Given the description of an element on the screen output the (x, y) to click on. 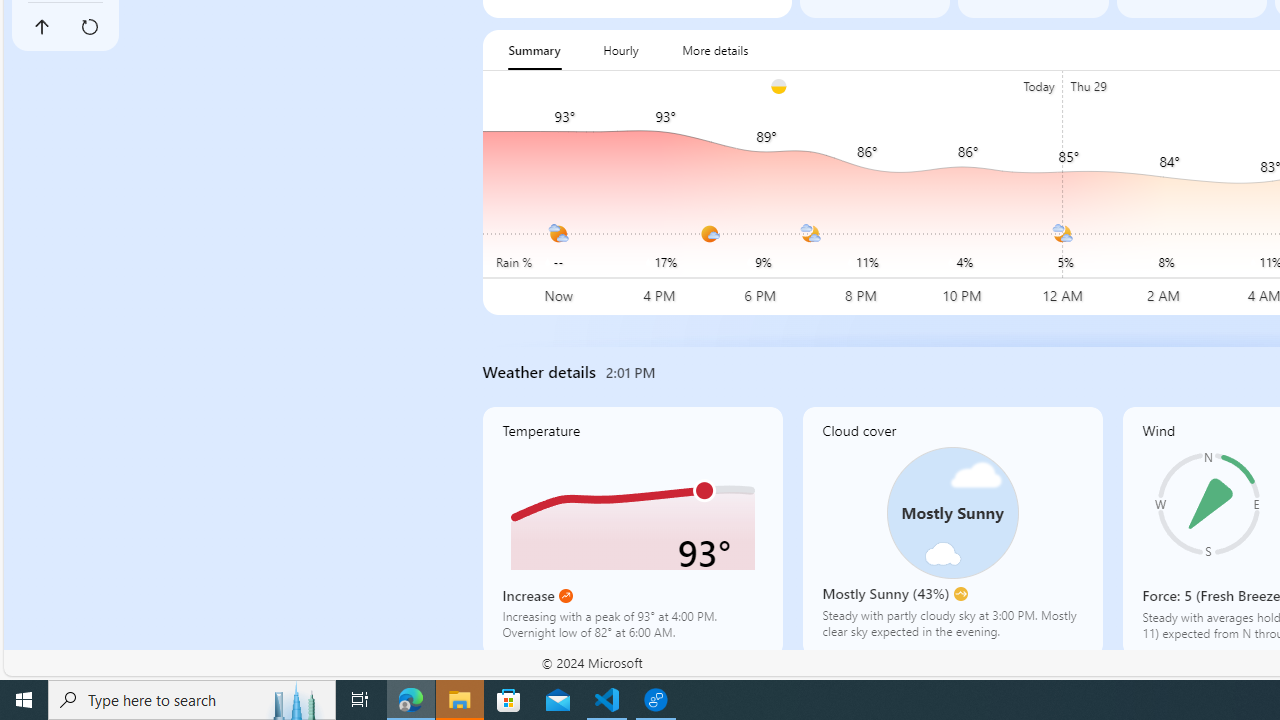
Cloud cover (952, 531)
Hourly (620, 49)
Summary (534, 49)
Increase (565, 595)
Back to top (41, 26)
More details (715, 49)
Temperature (632, 531)
Class: cloudCoverSvg-DS-ps0R9q (951, 512)
Refresh this page (89, 26)
